Given the description of an element on the screen output the (x, y) to click on. 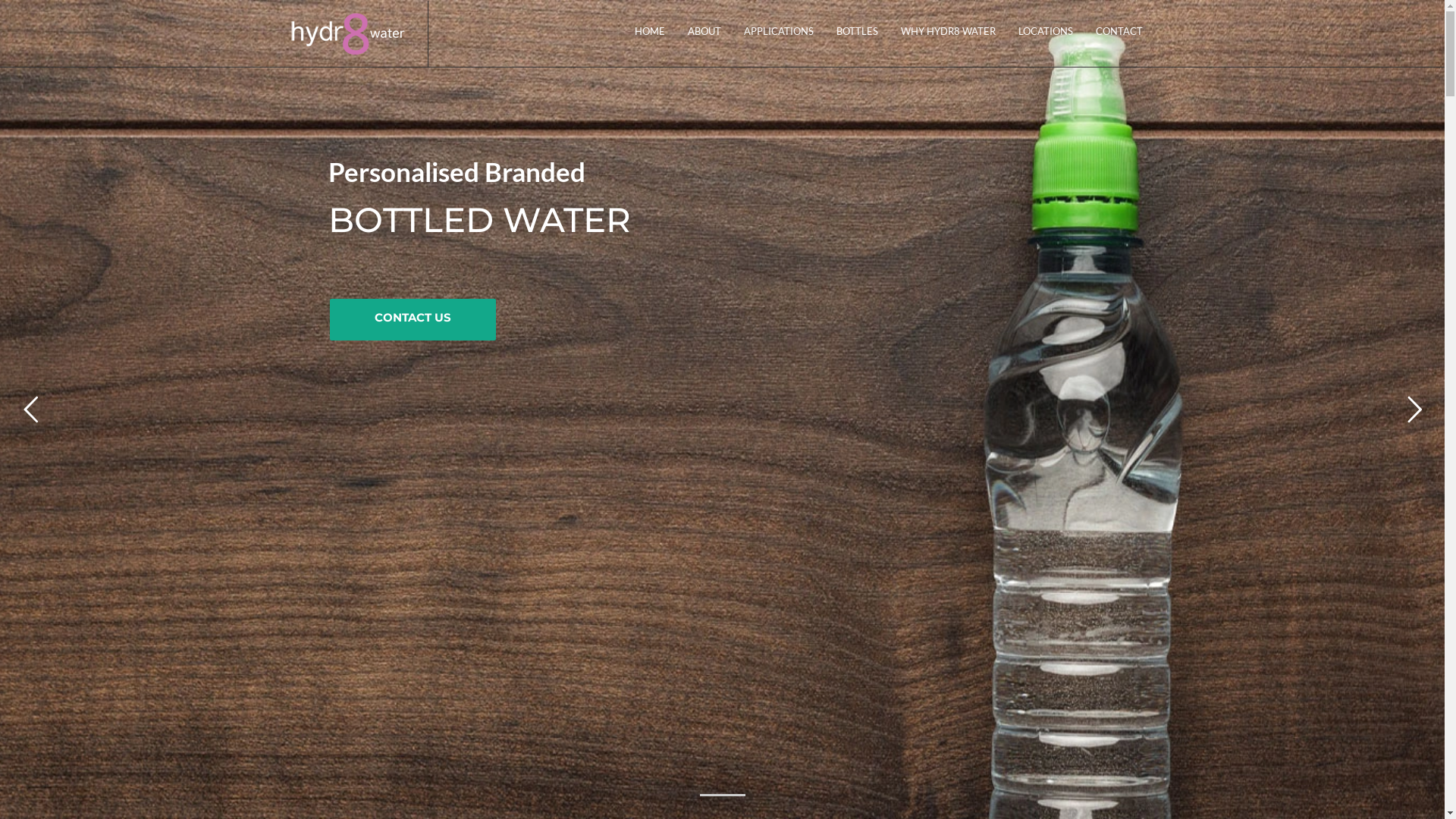
WHY HYDR8 WATER Element type: text (947, 30)
BOTTLES Element type: text (857, 30)
LOCATIONS Element type: text (1045, 30)
CONTACT Element type: text (1119, 30)
HOME Element type: text (649, 30)
CONTACT US Element type: text (412, 319)
APPLICATIONS Element type: text (778, 30)
ABOUT Element type: text (704, 30)
